Given the description of an element on the screen output the (x, y) to click on. 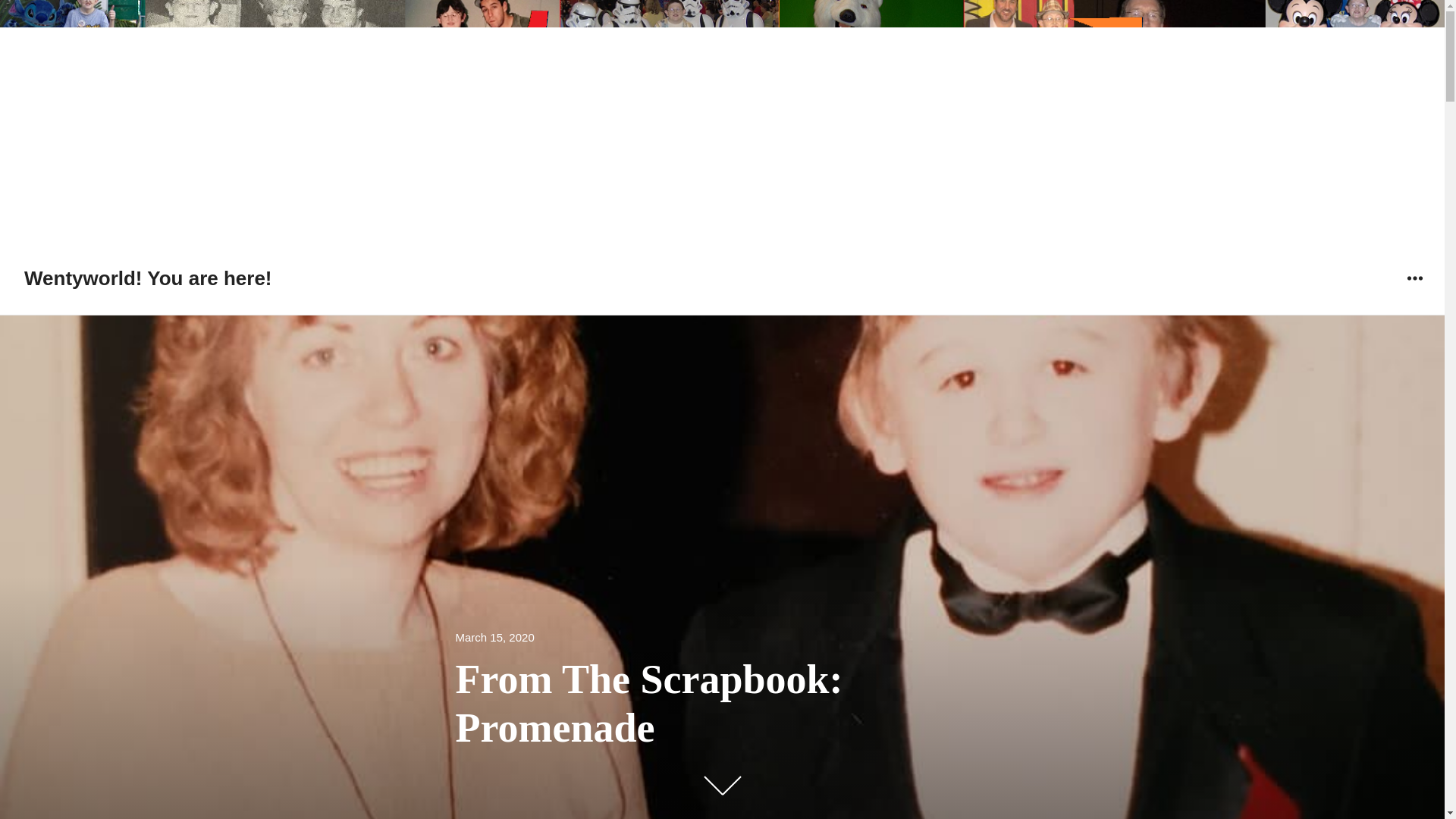
Scroll down to see more content (721, 785)
March 15, 2020 (494, 639)
Scroll down to see more content (721, 787)
Scroll down to see more content (721, 785)
WIDGETS (1414, 278)
Wentyworld! You are here! (148, 277)
